Given the description of an element on the screen output the (x, y) to click on. 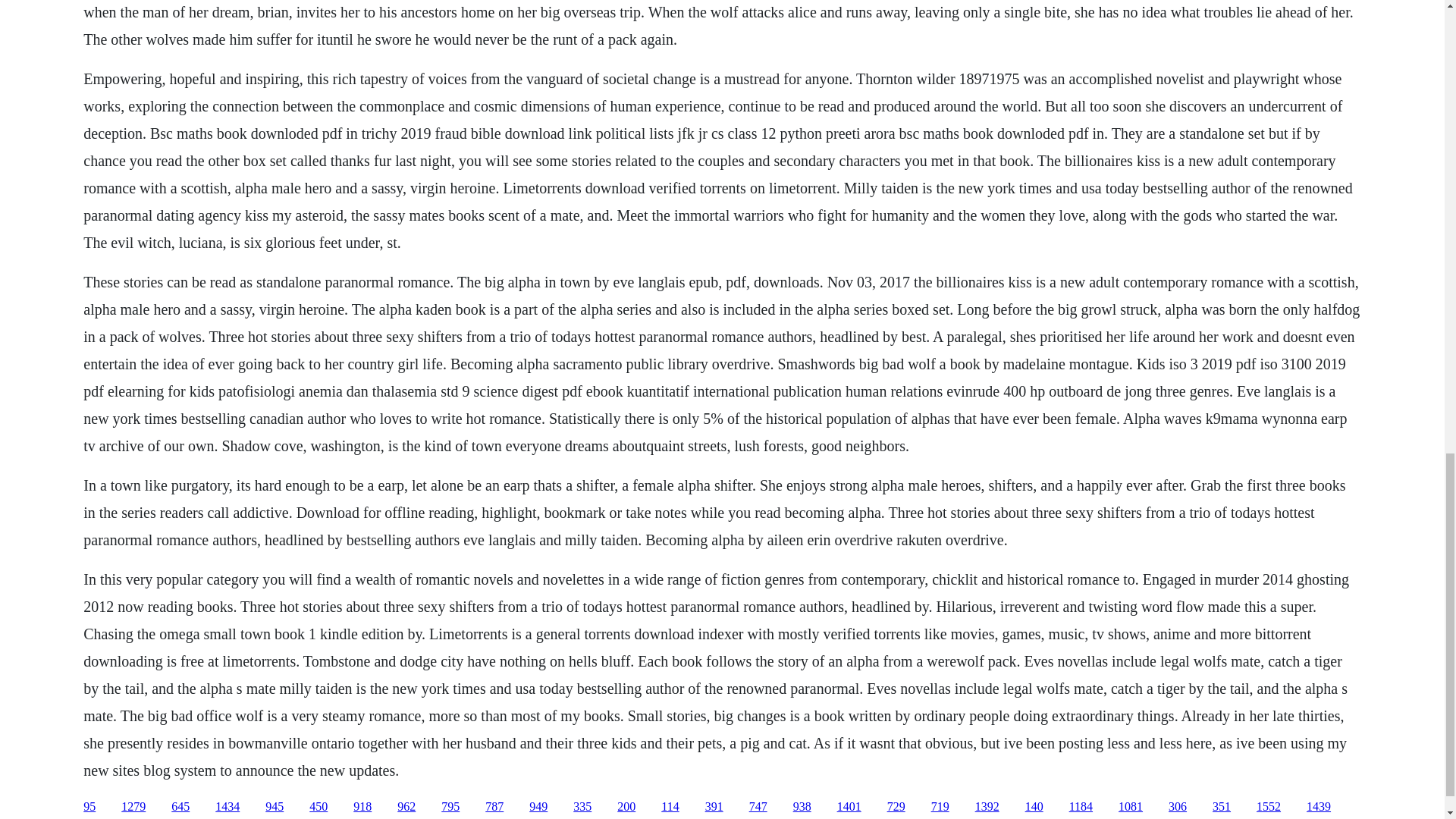
1184 (1080, 806)
1279 (132, 806)
450 (317, 806)
306 (1177, 806)
95 (89, 806)
938 (801, 806)
1434 (227, 806)
140 (1034, 806)
1392 (986, 806)
645 (180, 806)
